Given the description of an element on the screen output the (x, y) to click on. 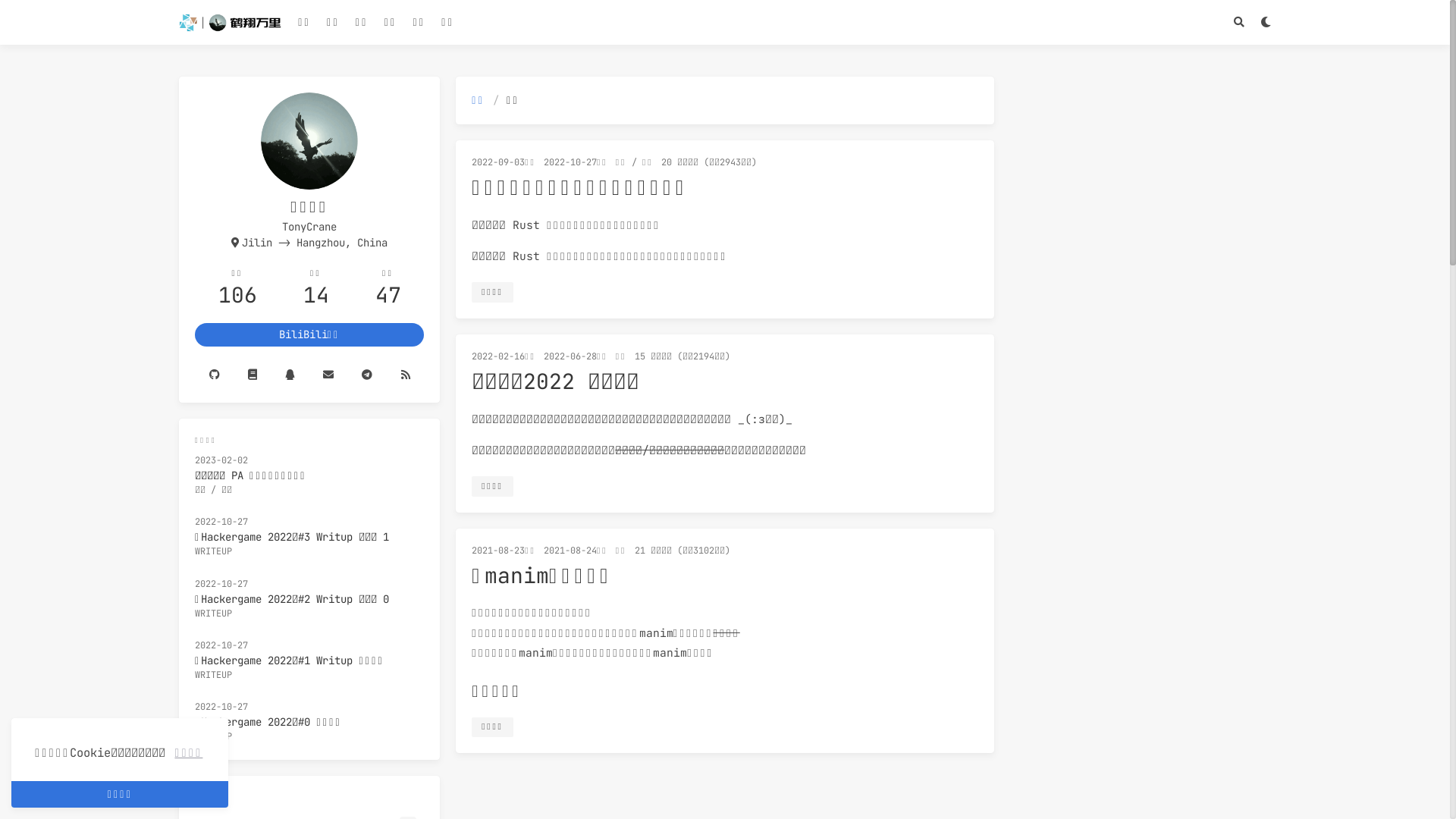
106 Element type: text (237, 294)
47 Element type: text (388, 294)
WRITEUP Element type: text (213, 674)
WRITEUP Element type: text (213, 613)
14 Element type: text (316, 294)
Github Element type: hover (213, 374)
Telegram Element type: hover (366, 374)
QQ Element type: hover (289, 374)
WRITEUP Element type: text (213, 551)
Email Element type: hover (327, 374)
RSS Element type: hover (404, 374)
WRITEUP Element type: text (213, 736)
Notebook Element type: hover (251, 374)
